Given the description of an element on the screen output the (x, y) to click on. 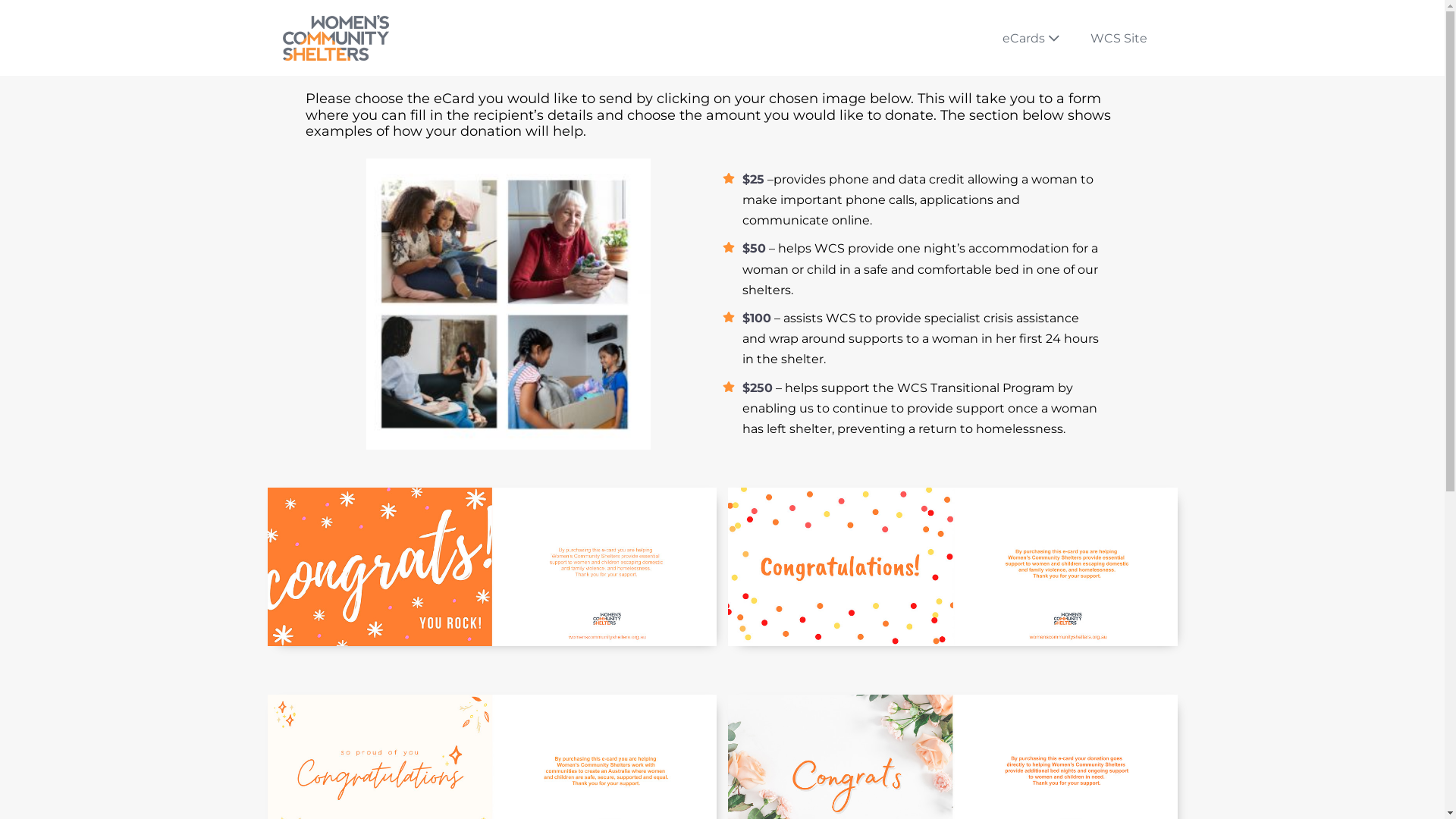
eCards Element type: text (1031, 38)
WCS Site Element type: text (1118, 38)
Women's Community Shelters Shop Element type: hover (335, 37)
